Given the description of an element on the screen output the (x, y) to click on. 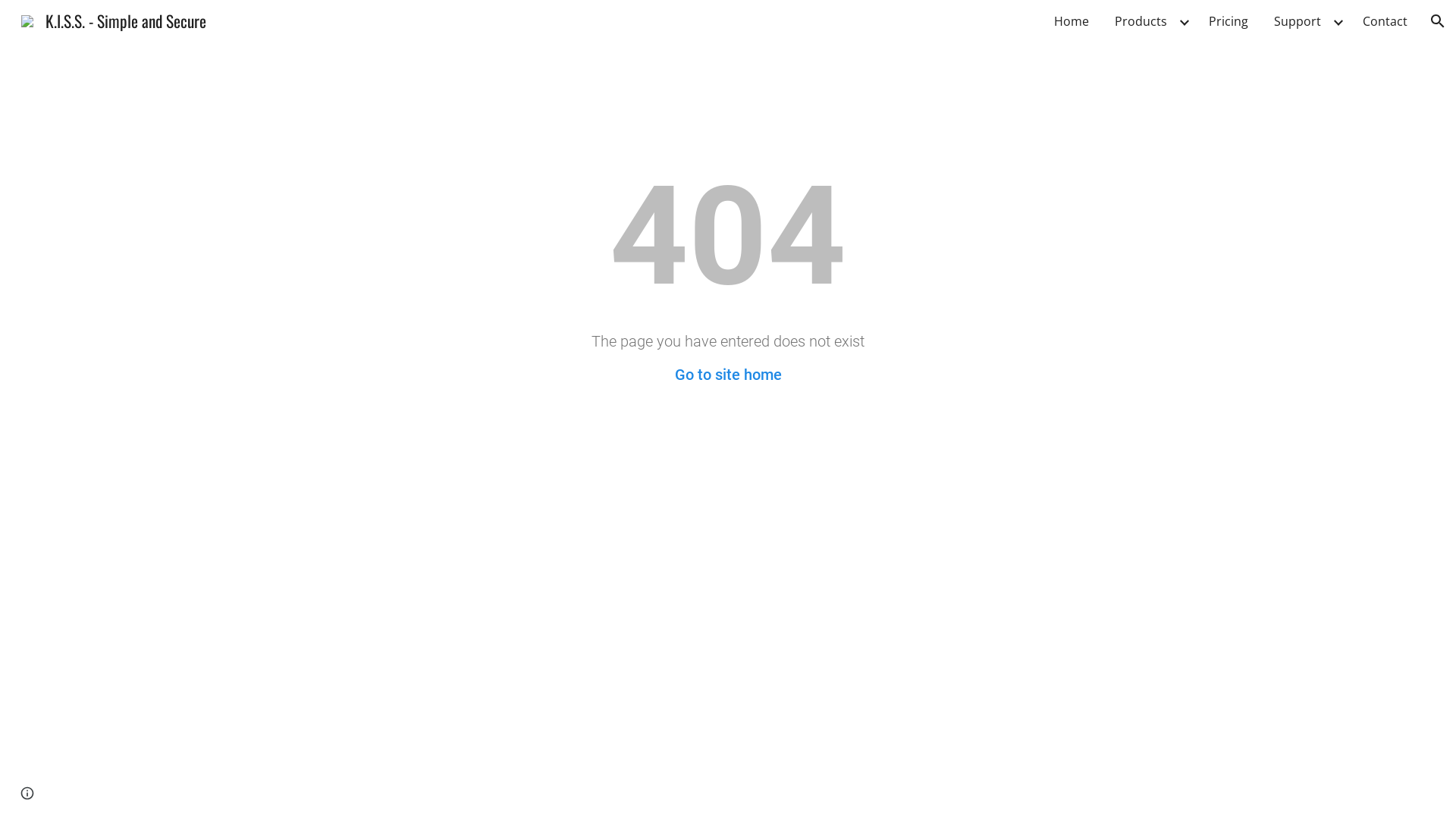
Home Element type: text (1071, 20)
Go to site home Element type: text (727, 374)
Contact Element type: text (1385, 20)
Products Element type: text (1140, 20)
K.I.S.S. - Simple and Secure Element type: text (113, 18)
Support Element type: text (1297, 20)
Expand/Collapse Element type: hover (1183, 20)
Pricing Element type: text (1228, 20)
Expand/Collapse Element type: hover (1337, 20)
